Given the description of an element on the screen output the (x, y) to click on. 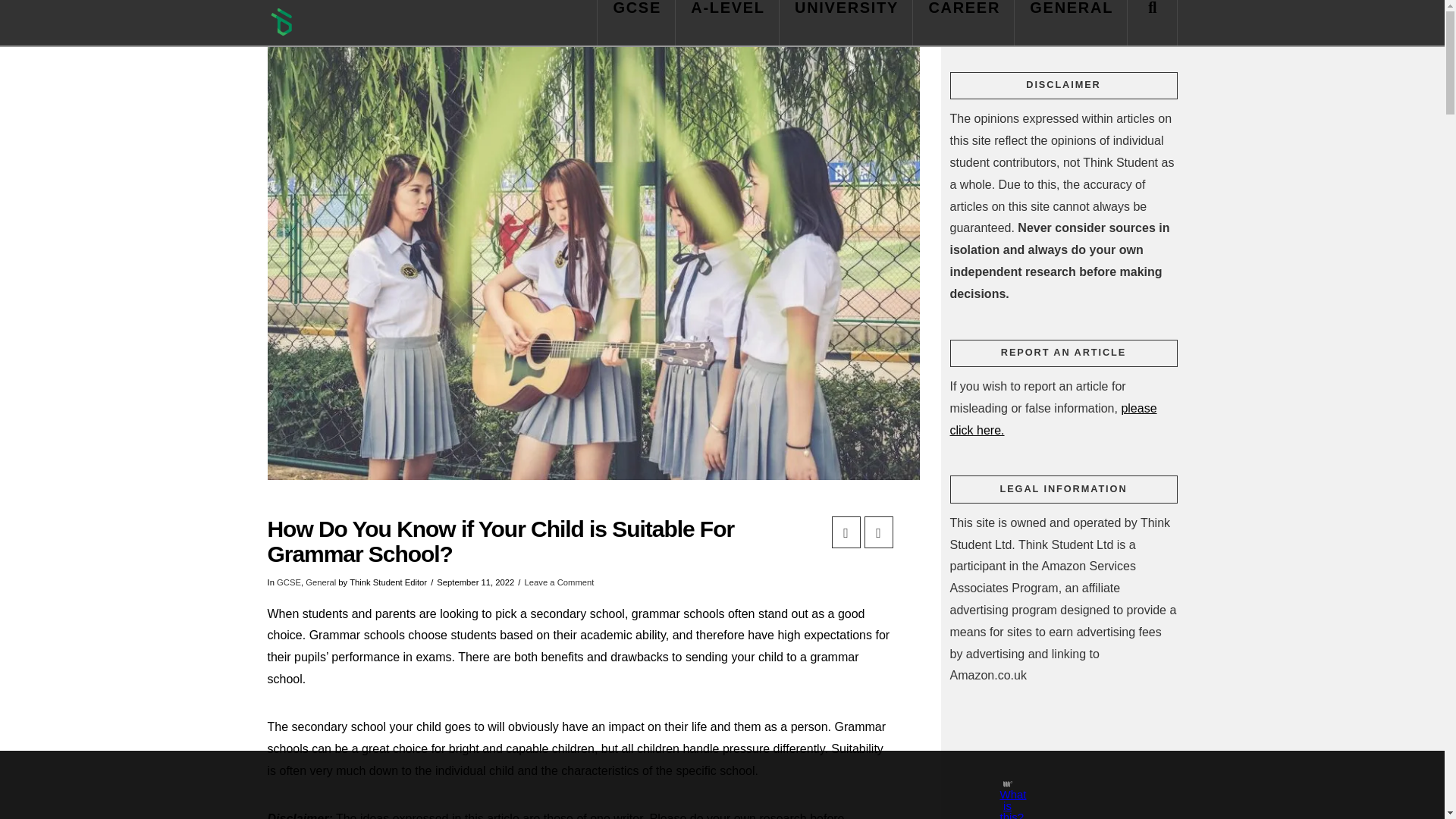
GENERAL (1070, 22)
GCSE (288, 582)
Leave a Comment (559, 582)
UNIVERSITY (845, 22)
A-LEVEL (726, 22)
CAREER (963, 22)
General (320, 582)
GCSE (635, 22)
